Given the description of an element on the screen output the (x, y) to click on. 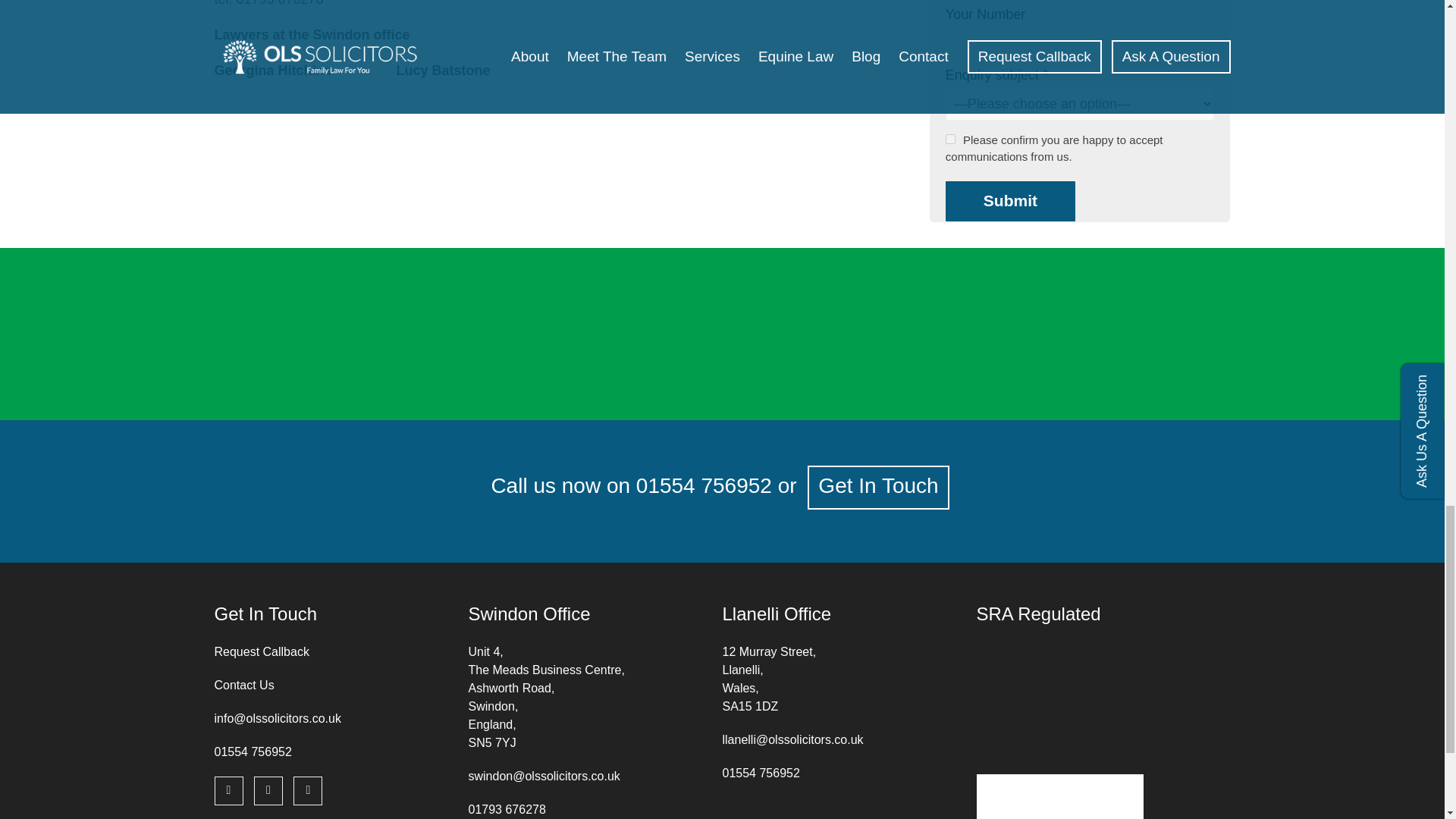
Contact Us (243, 684)
01554 756952 (252, 751)
01554 756952 (703, 485)
01554 756952 (760, 772)
ReviewSolicitors (537, 312)
Get In Touch (878, 487)
Request Callback (261, 651)
01793 676278 (507, 809)
